Given the description of an element on the screen output the (x, y) to click on. 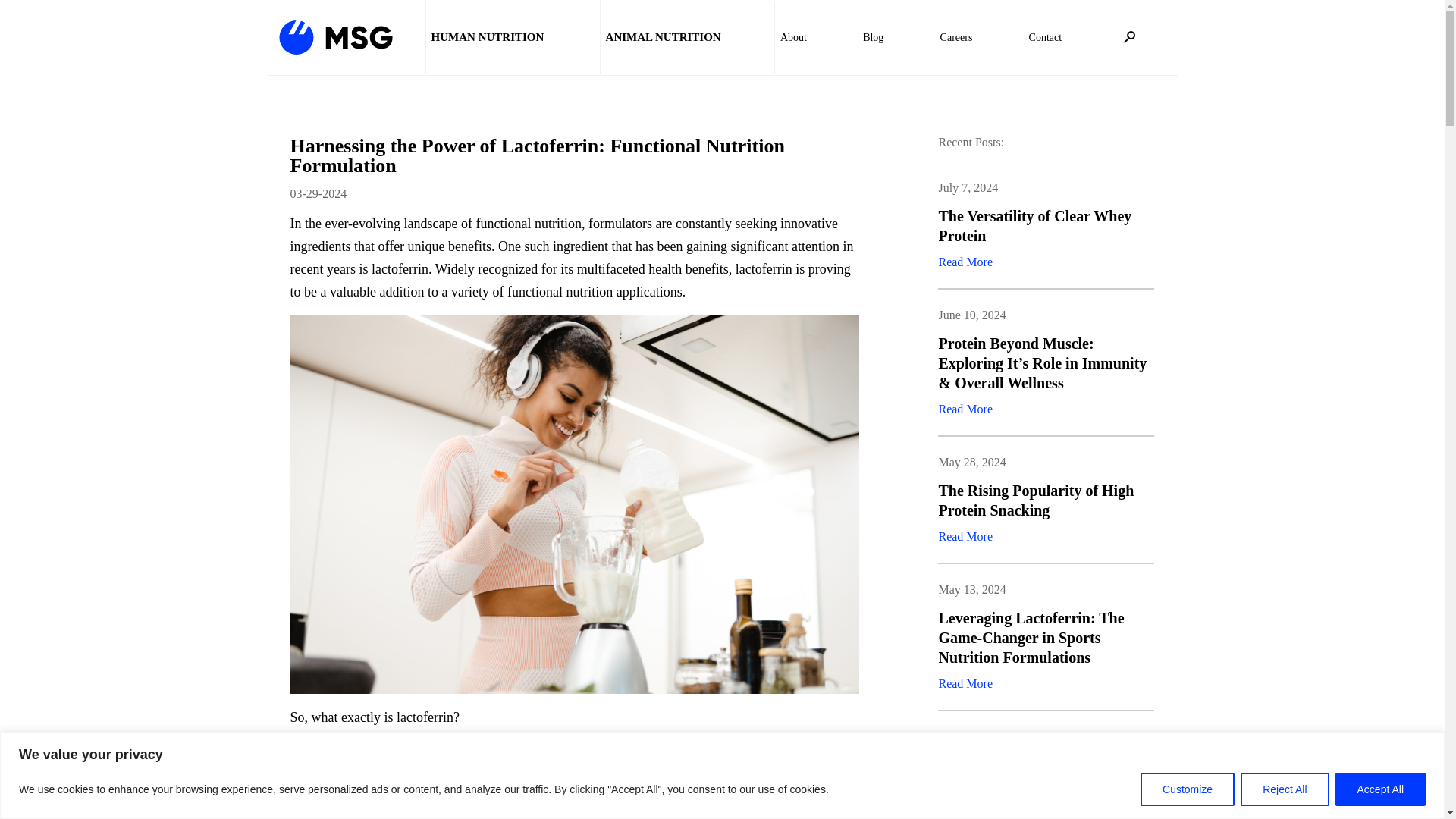
Accept All (1380, 788)
Reject All (1283, 788)
Milk Specialties Global (336, 37)
Customize (1187, 788)
HUMAN NUTRITION (487, 37)
